Given the description of an element on the screen output the (x, y) to click on. 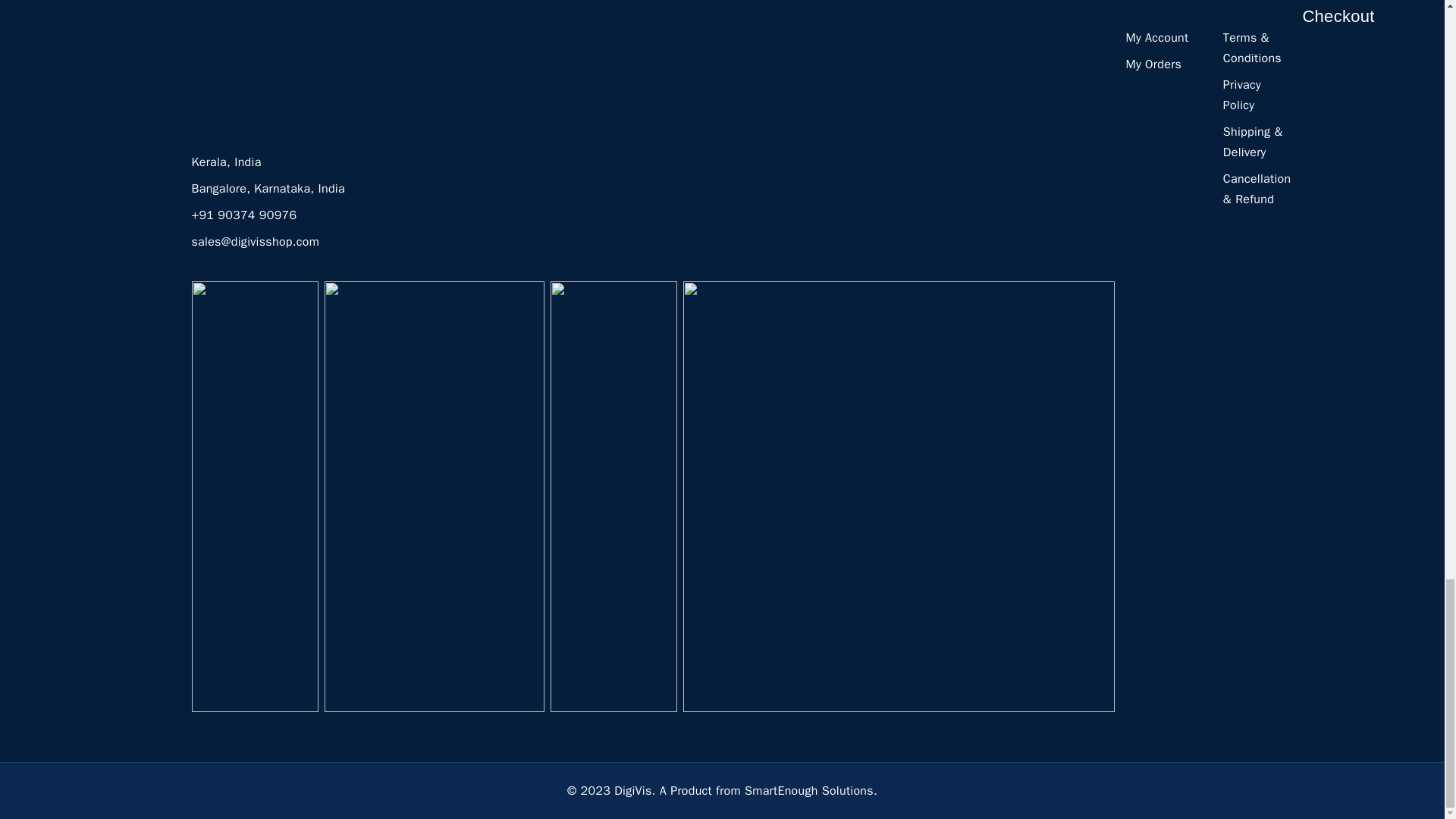
SmartEnough Solutions. (810, 790)
Kerala, India (225, 161)
Bangalore, Karnataka, India (266, 188)
Privacy Policy (1241, 94)
My Orders (1152, 64)
DigiVis. (635, 790)
My Account (1156, 37)
